Given the description of an element on the screen output the (x, y) to click on. 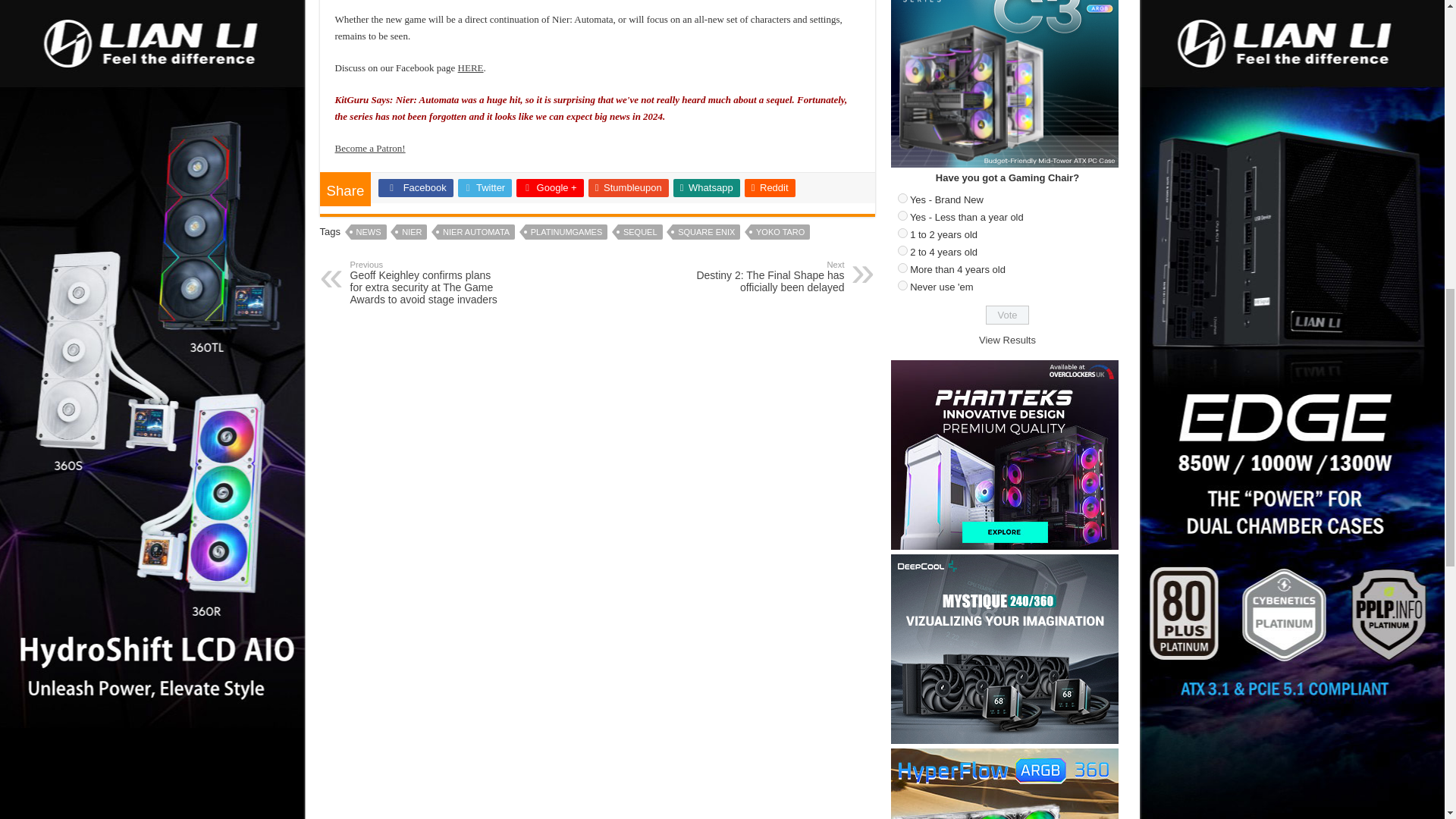
1378 (902, 285)
1375 (902, 233)
1377 (902, 267)
   Vote    (1007, 314)
View Results Of This Poll (1006, 339)
HERE (470, 67)
1374 (902, 215)
1373 (902, 198)
1376 (902, 250)
Become a Patron! (370, 147)
